Given the description of an element on the screen output the (x, y) to click on. 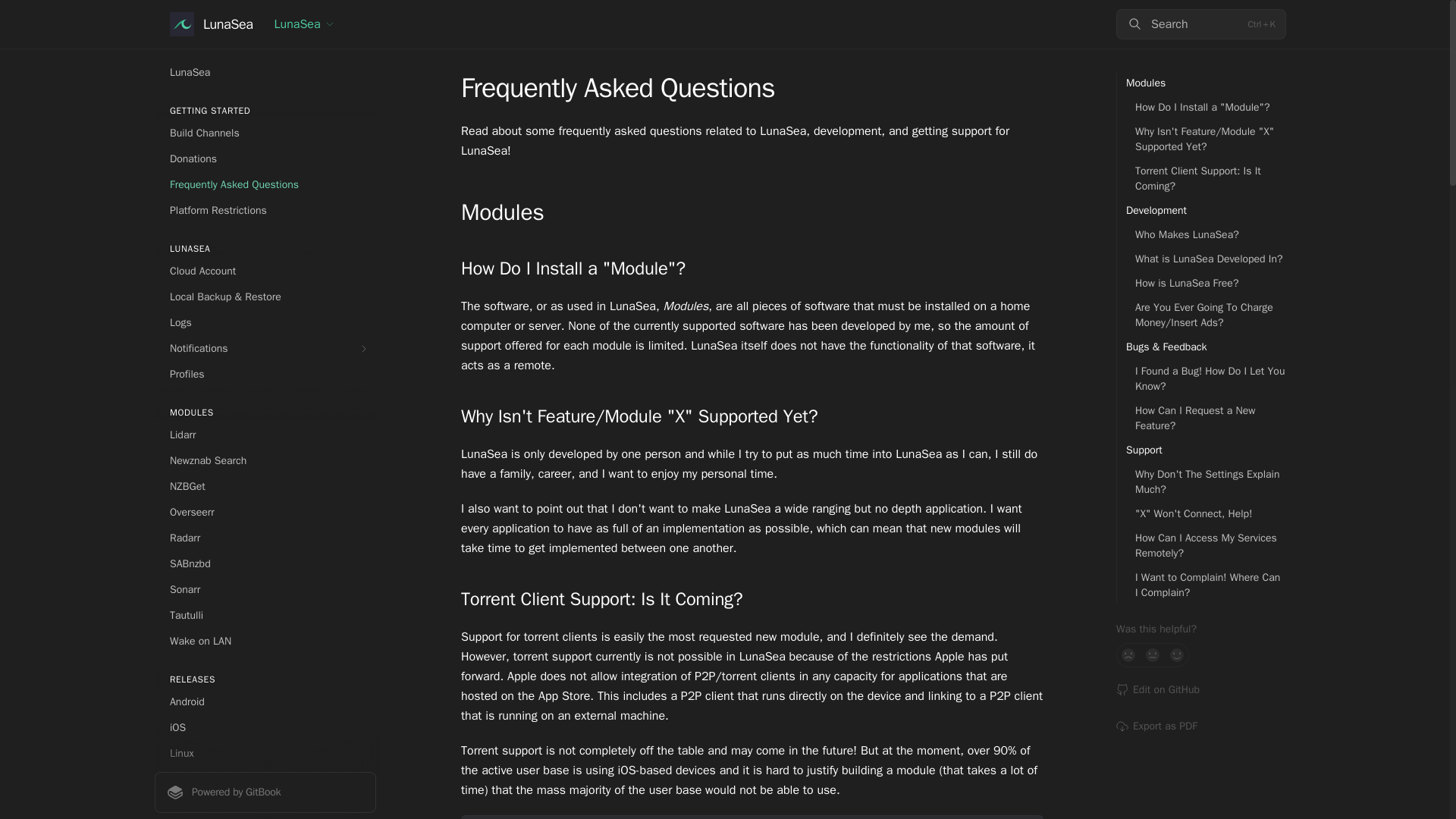
Profiles (264, 374)
Newznab Search (264, 460)
No (1128, 654)
Tautulli (264, 615)
Not sure (1152, 654)
Android (264, 702)
Linux (264, 753)
Sonarr (264, 589)
macOS (264, 779)
Platform Restrictions (264, 210)
Wake on LAN (264, 641)
Lidarr (264, 435)
LunaSea (264, 72)
NZBGet (264, 486)
Logs (264, 322)
